Given the description of an element on the screen output the (x, y) to click on. 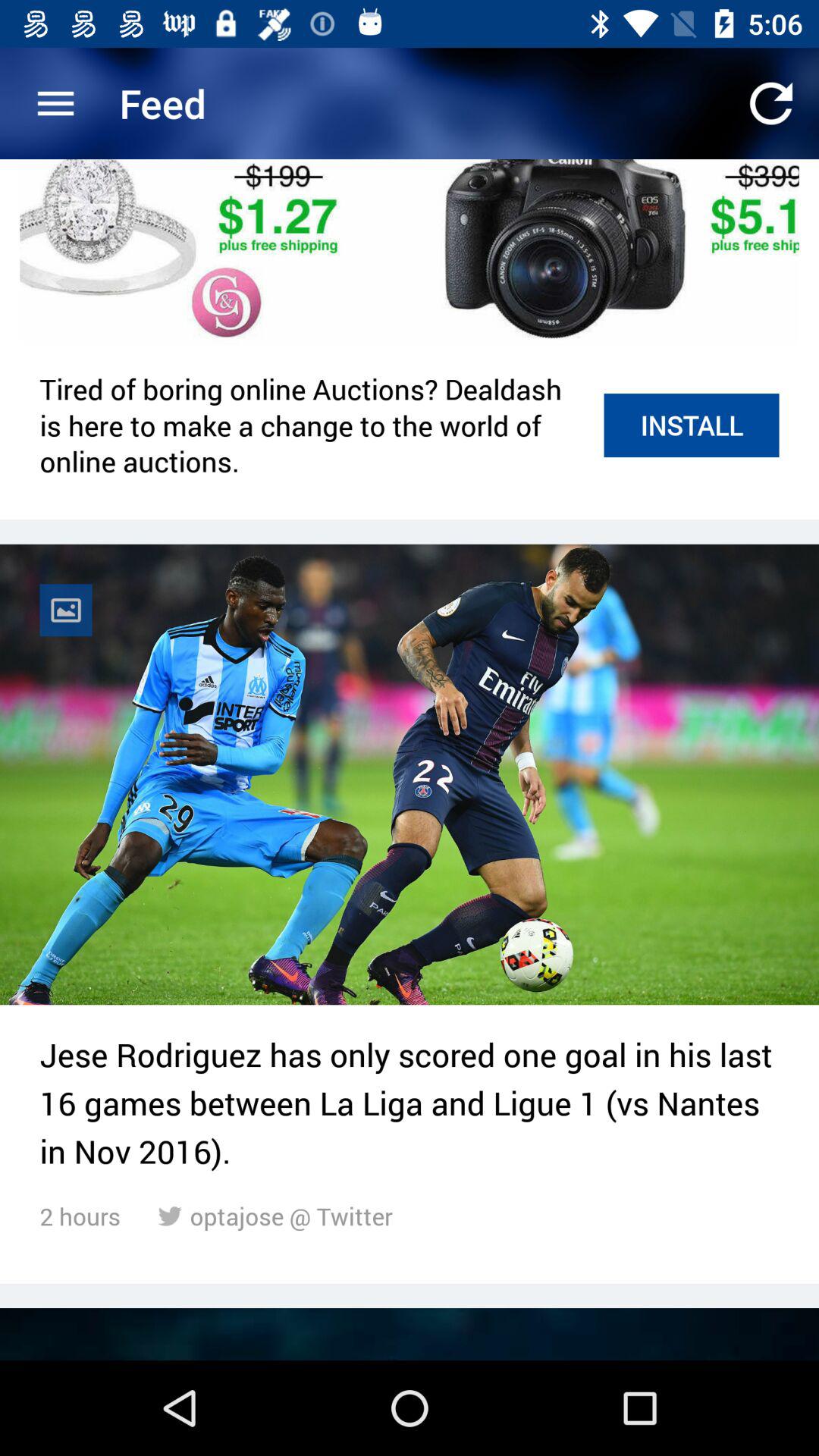
click install icon (691, 425)
